Given the description of an element on the screen output the (x, y) to click on. 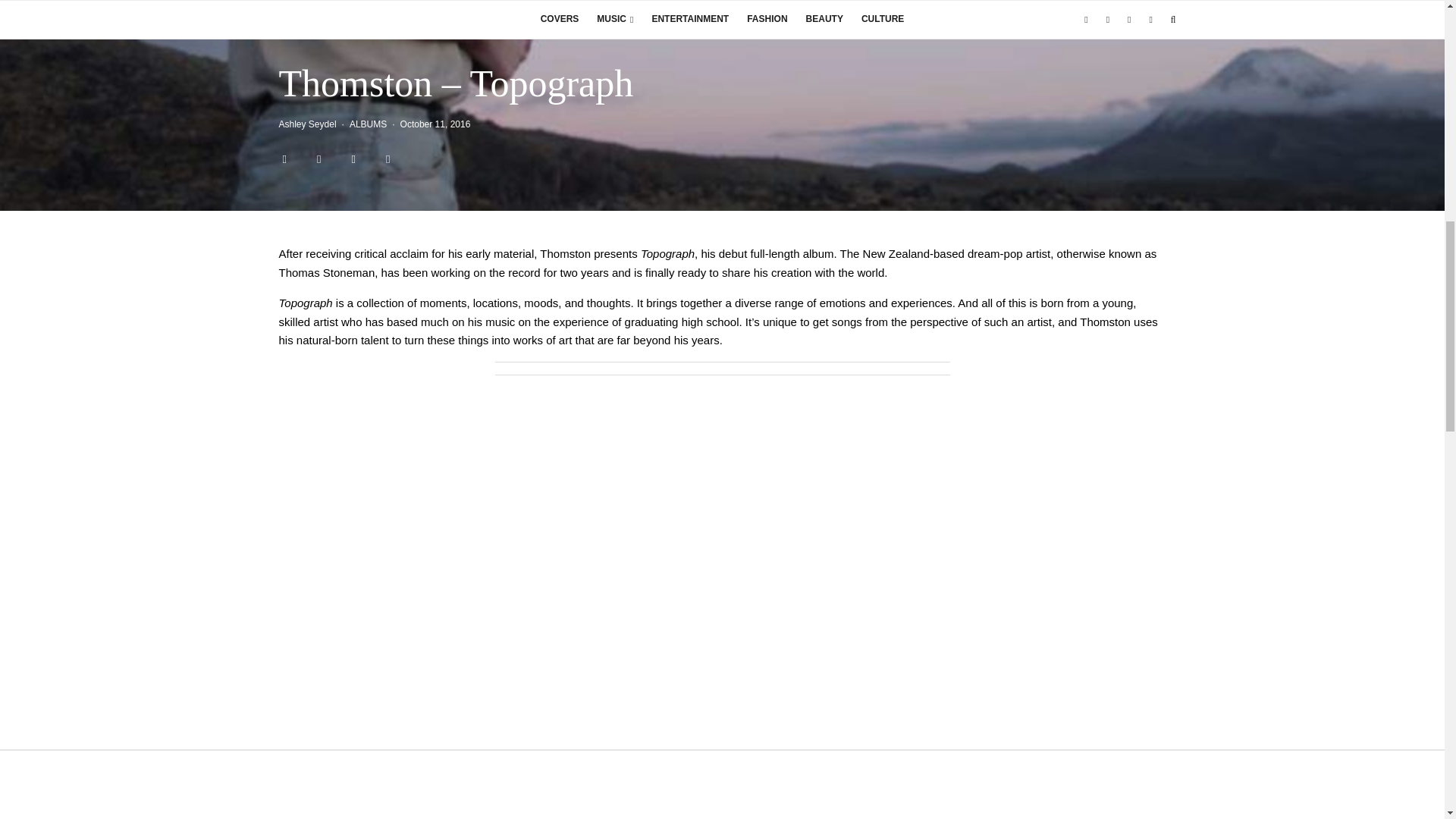
Ashley Seydel (307, 123)
ALBUMS (368, 124)
